Given the description of an element on the screen output the (x, y) to click on. 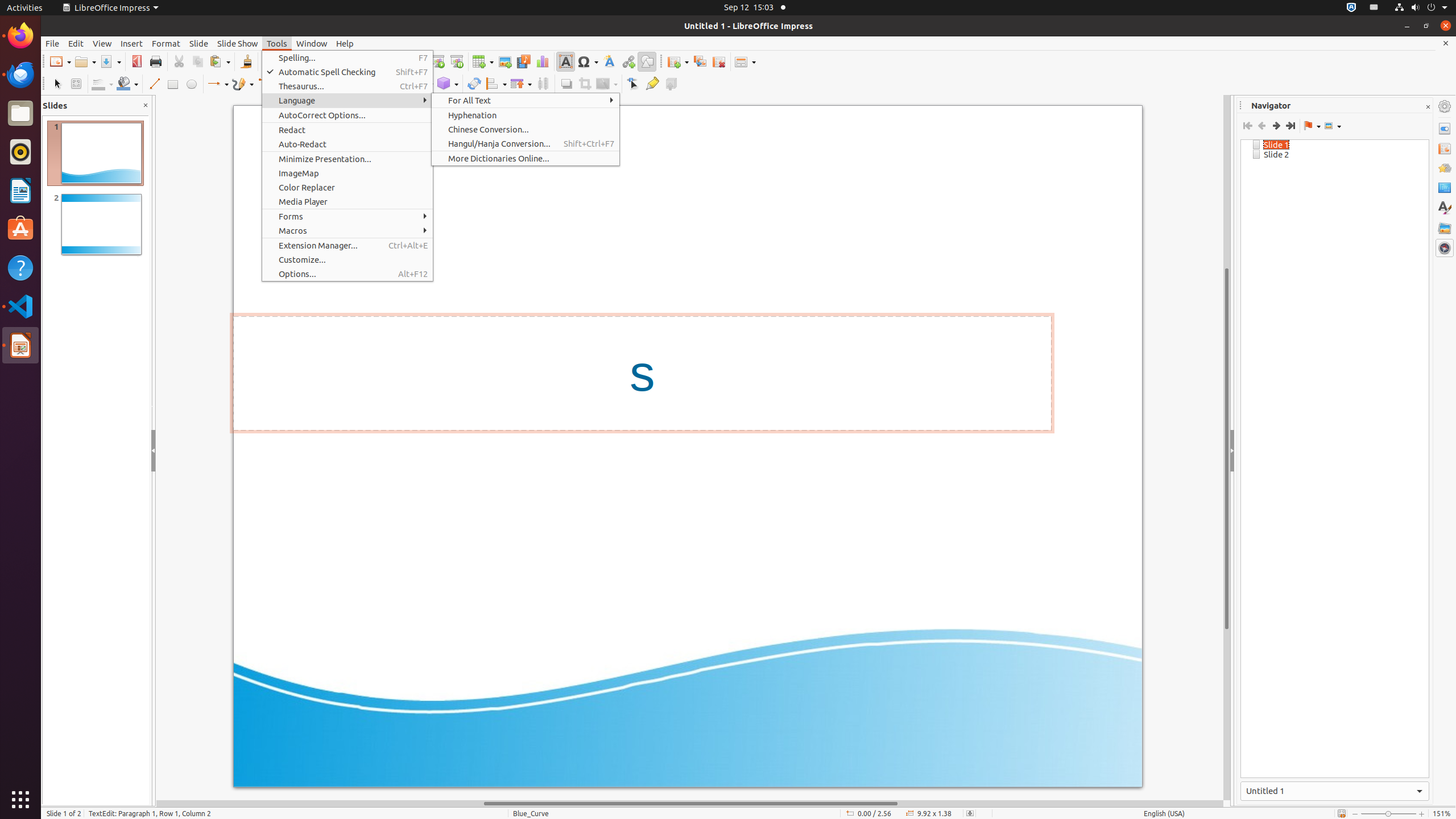
Files Element type: push-button (20, 113)
Tools Element type: menu (276, 43)
Chinese Conversion... Element type: menu-item (525, 129)
Thesaurus... Element type: menu-item (347, 86)
Forms Element type: menu (347, 216)
